Given the description of an element on the screen output the (x, y) to click on. 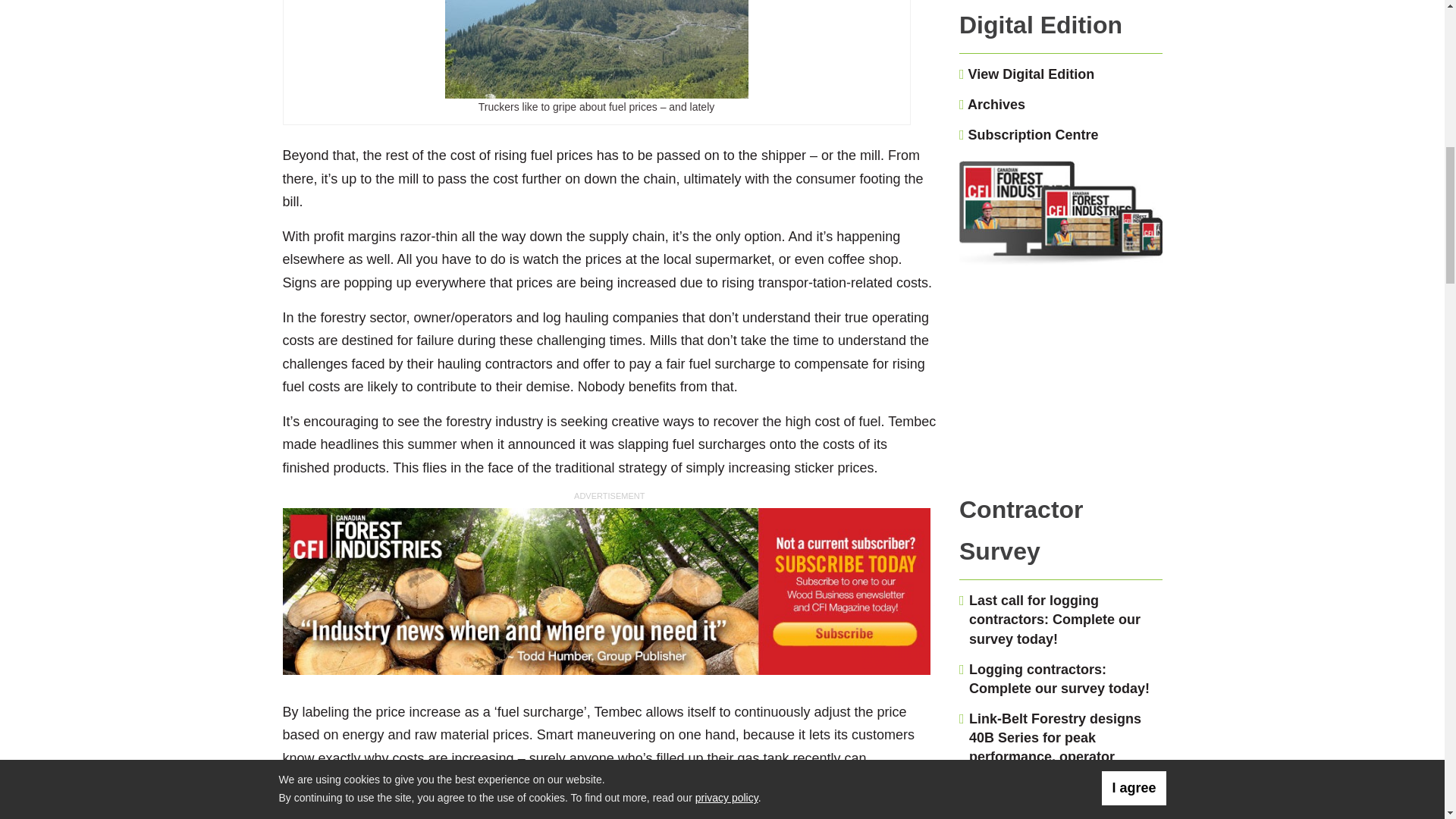
3rd party ad content (609, 592)
3rd party ad content (1060, 386)
